Given the description of an element on the screen output the (x, y) to click on. 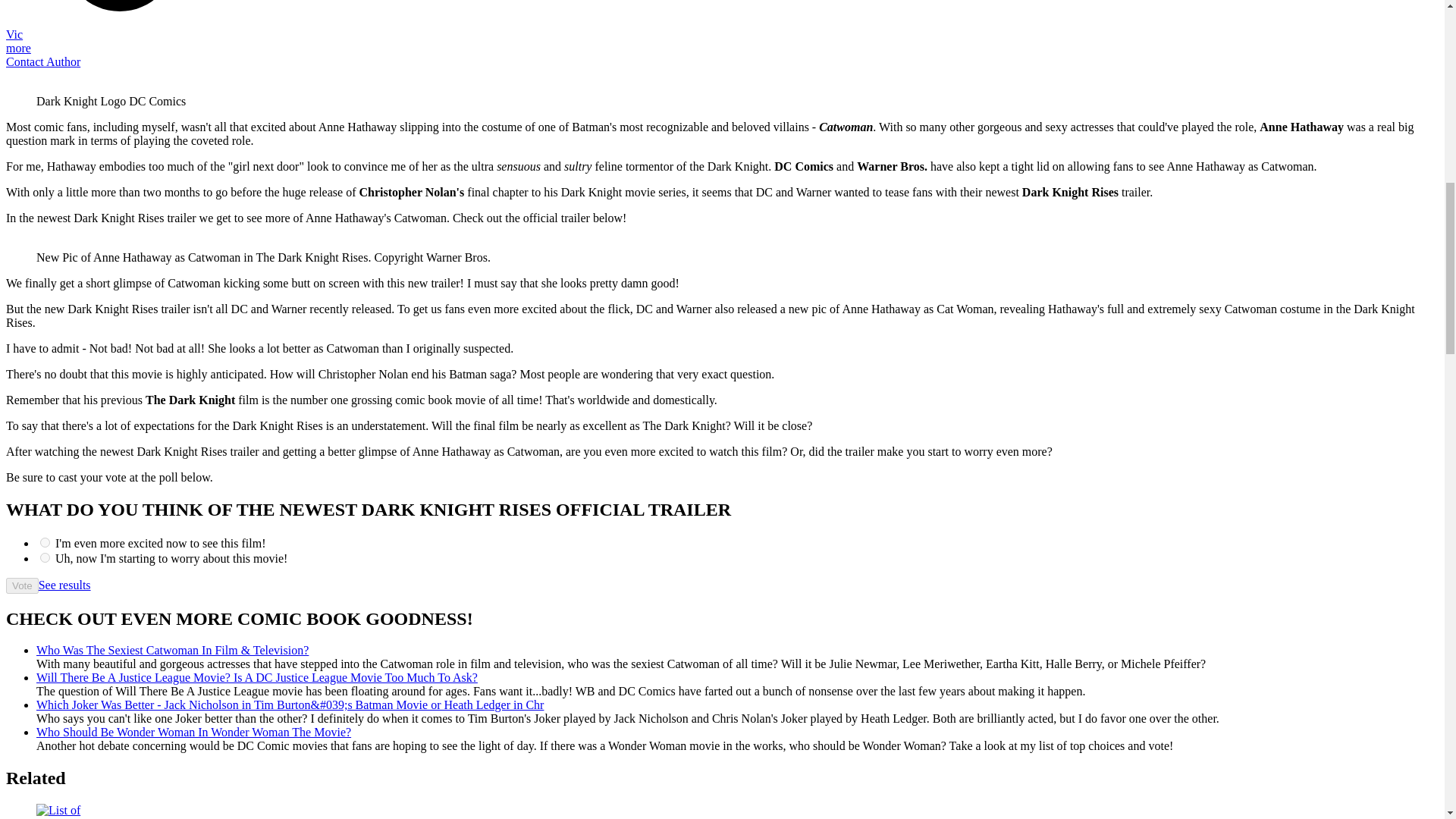
Contact Author (42, 61)
Vote (22, 585)
Who Should Be Wonder Woman In Wonder Woman The Movie? (193, 731)
1 (44, 557)
See results (64, 584)
0 (44, 542)
